Given the description of an element on the screen output the (x, y) to click on. 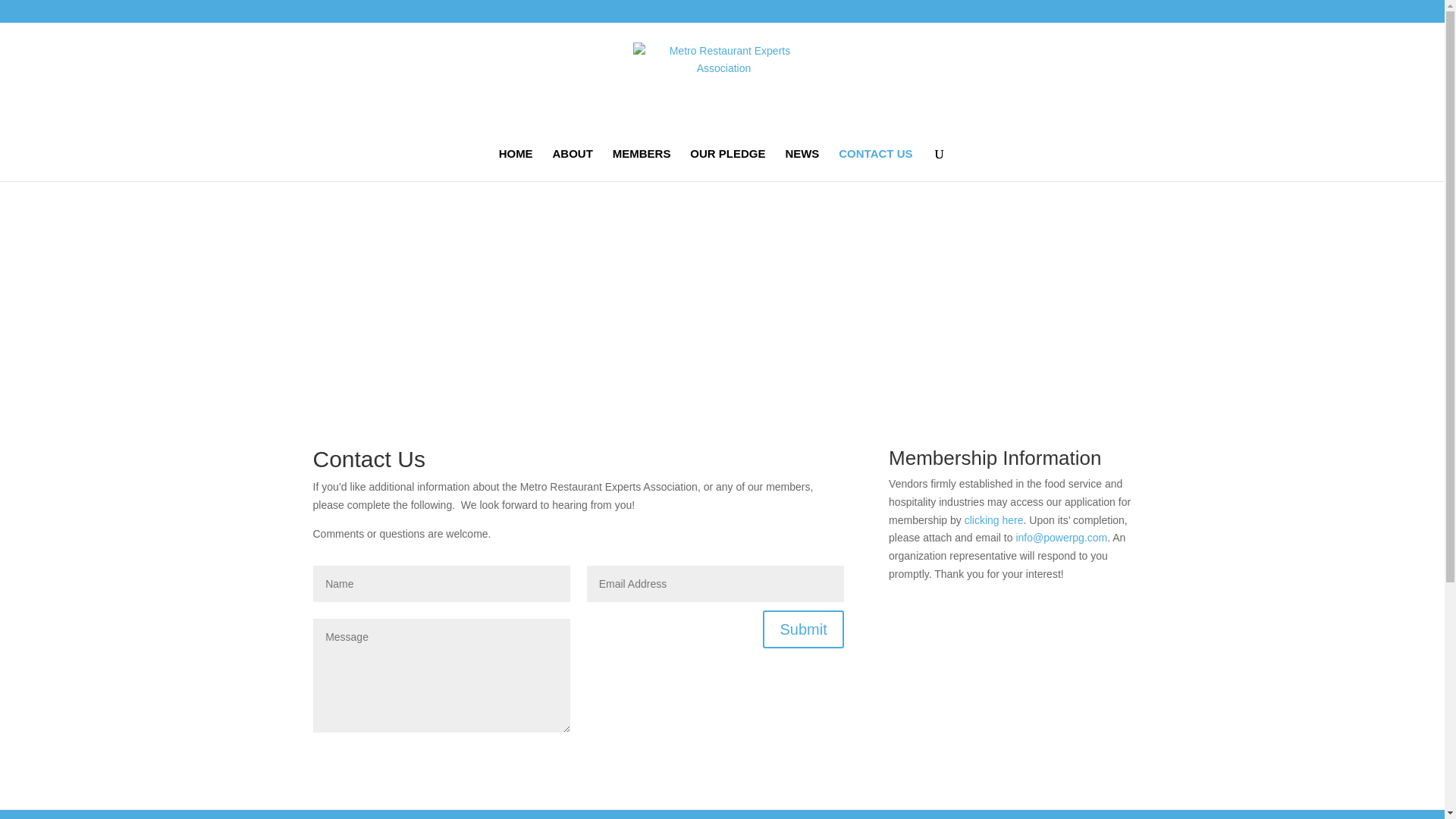
MEMBERS (641, 164)
OUR PLEDGE (727, 164)
Submit (802, 629)
CONTACT US (875, 164)
NEWS (801, 164)
ABOUT (572, 164)
clicking here (993, 520)
HOME (515, 164)
